Given the description of an element on the screen output the (x, y) to click on. 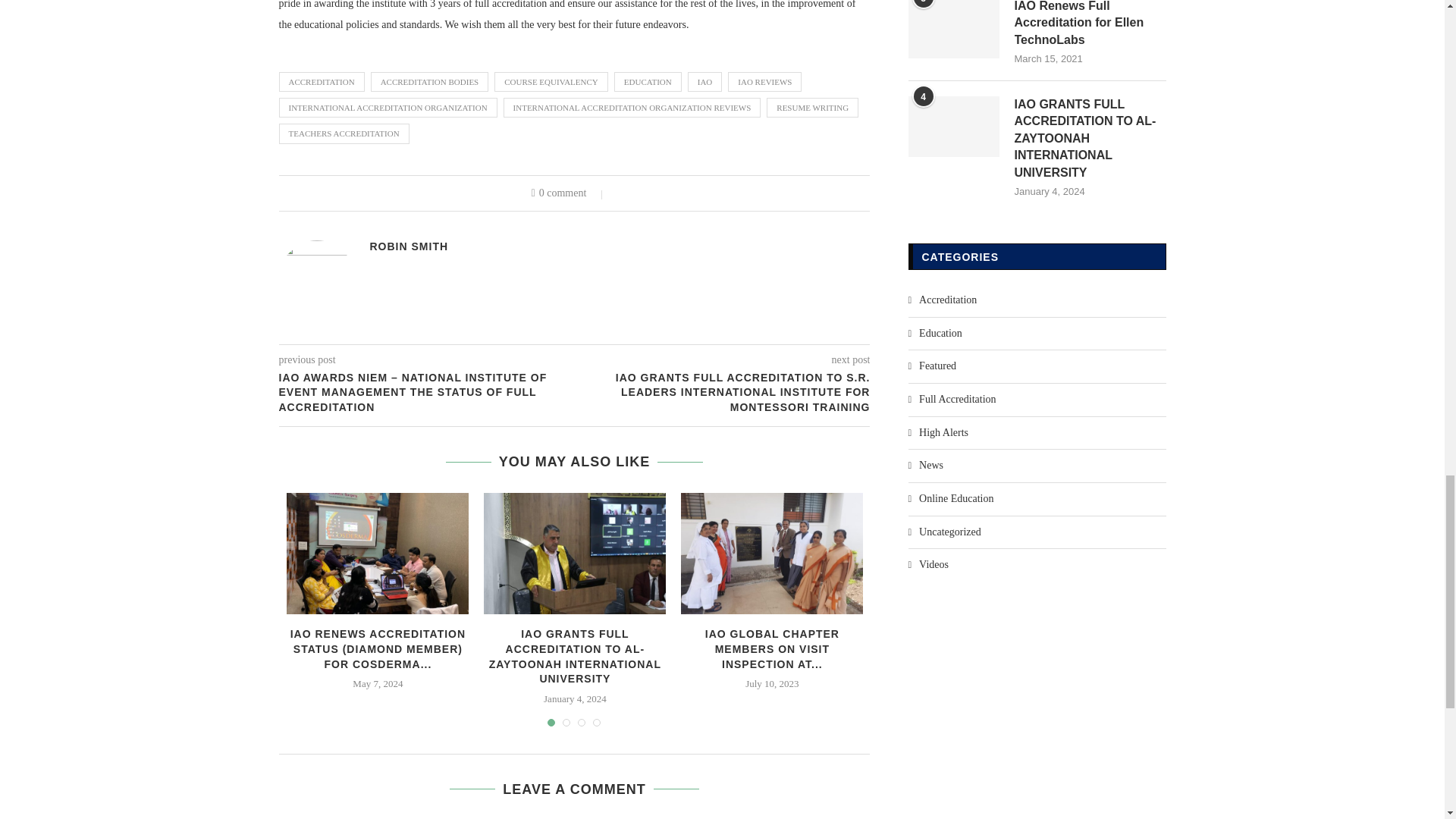
Posts by Robin Smith (408, 246)
TEACHERS ACCREDITATION (344, 133)
ACCREDITATION BODIES (430, 81)
IAO REVIEWS (765, 81)
INTERNATIONAL ACCREDITATION ORGANIZATION REVIEWS (632, 107)
INTERNATIONAL ACCREDITATION ORGANIZATION (388, 107)
ACCREDITATION (322, 81)
ROBIN SMITH (408, 246)
IAO (704, 81)
RESUME WRITING (813, 107)
COURSE EQUIVALENCY (551, 81)
EDUCATION (647, 81)
